Given the description of an element on the screen output the (x, y) to click on. 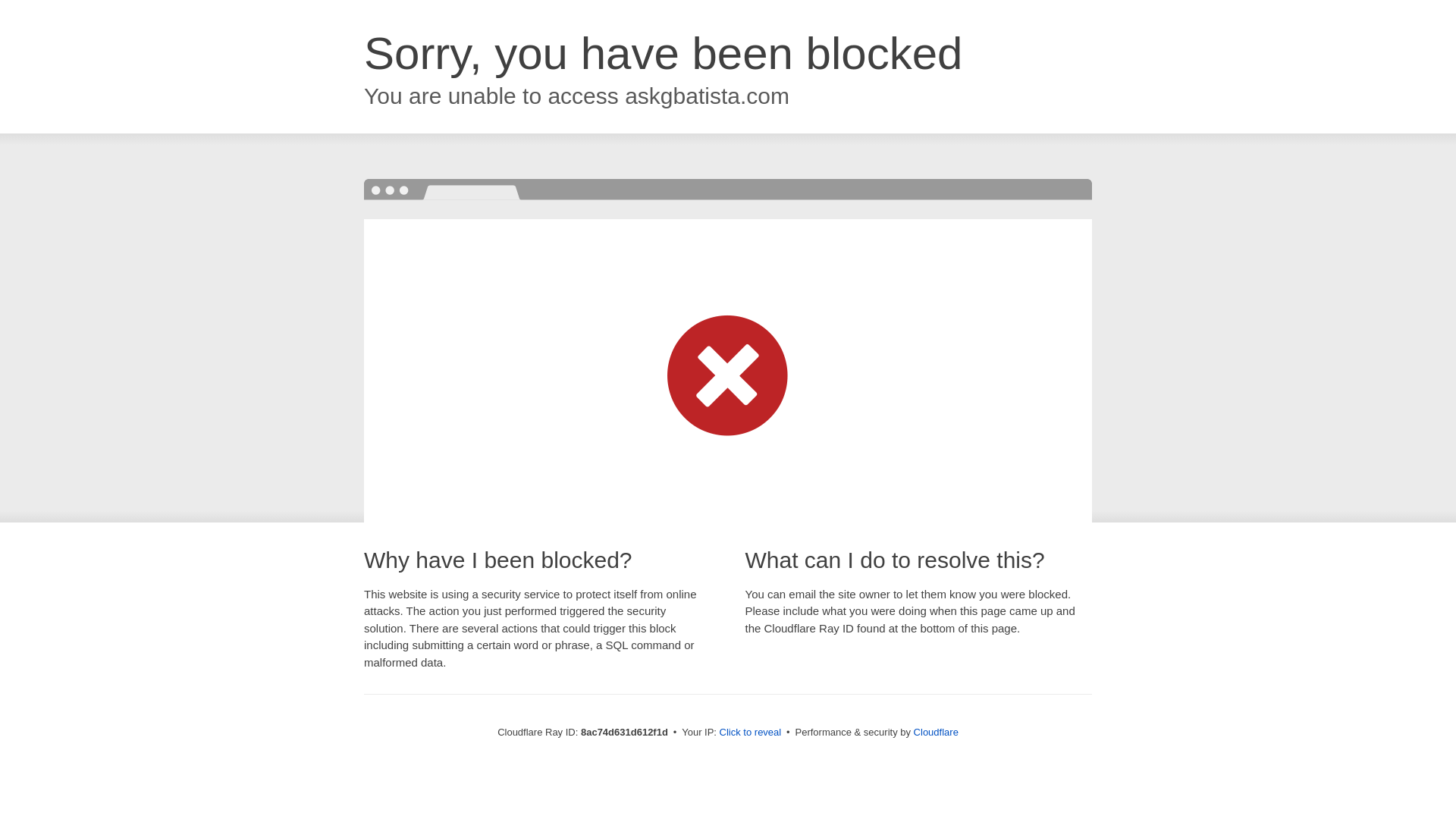
Cloudflare (936, 731)
Click to reveal (750, 732)
